Given the description of an element on the screen output the (x, y) to click on. 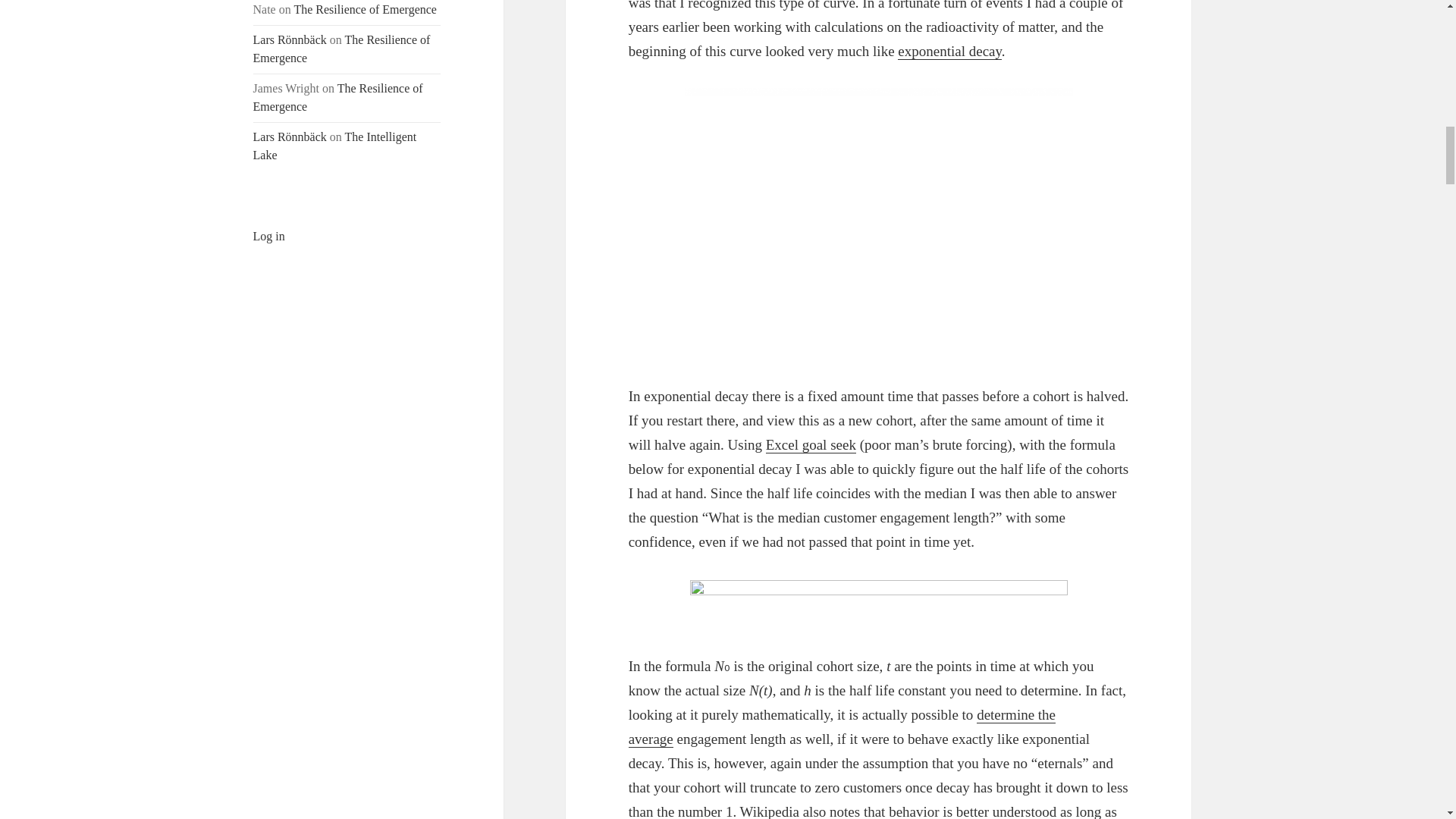
The Resilience of Emergence (338, 97)
Log in (269, 236)
The Resilience of Emergence (365, 9)
Excel goal seek (810, 444)
exponential decay (949, 51)
The Resilience of Emergence (341, 48)
The Intelligent Lake (334, 145)
